Given the description of an element on the screen output the (x, y) to click on. 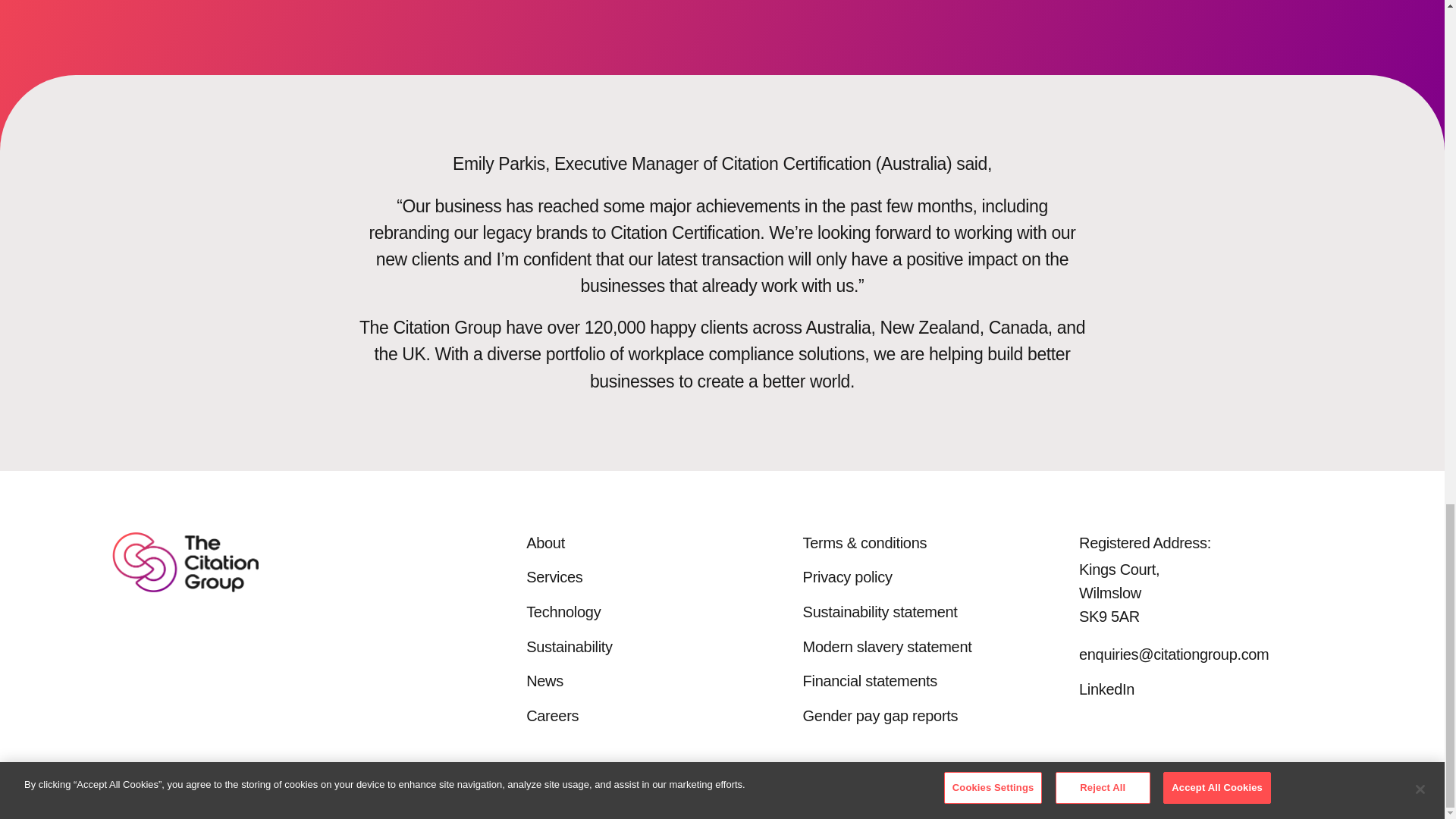
Privacy policy (847, 576)
Sustainability (568, 646)
Services (553, 576)
Sustainability statement (880, 611)
Financial statements (870, 680)
News (544, 680)
Technology (562, 611)
Modern slavery statement (887, 646)
Careers (551, 715)
About (544, 542)
